Given the description of an element on the screen output the (x, y) to click on. 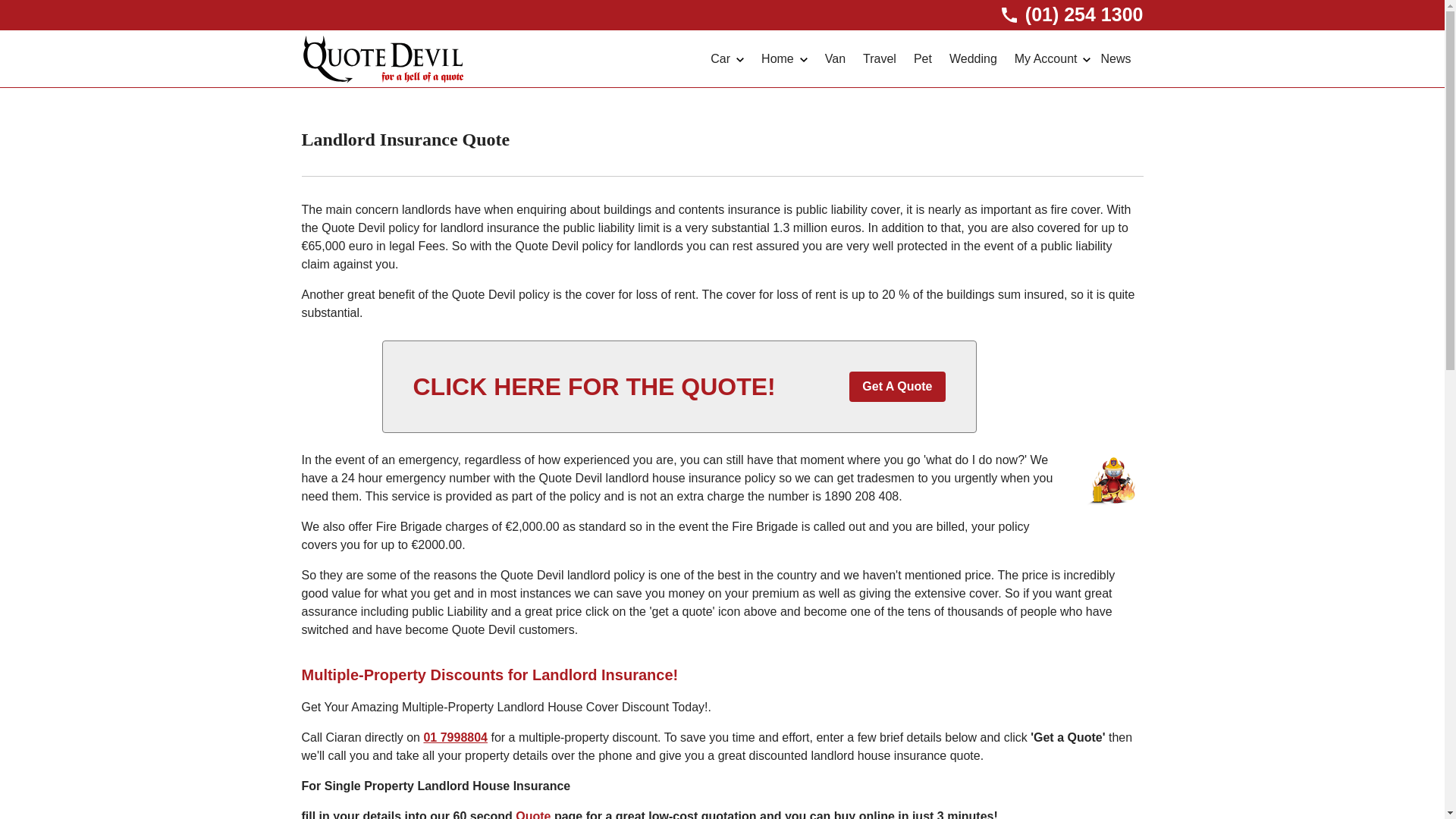
Van (836, 58)
Wedding (974, 58)
Travel (880, 58)
Home (785, 58)
Car (728, 58)
My Account (1053, 58)
Pet (923, 58)
